Given the description of an element on the screen output the (x, y) to click on. 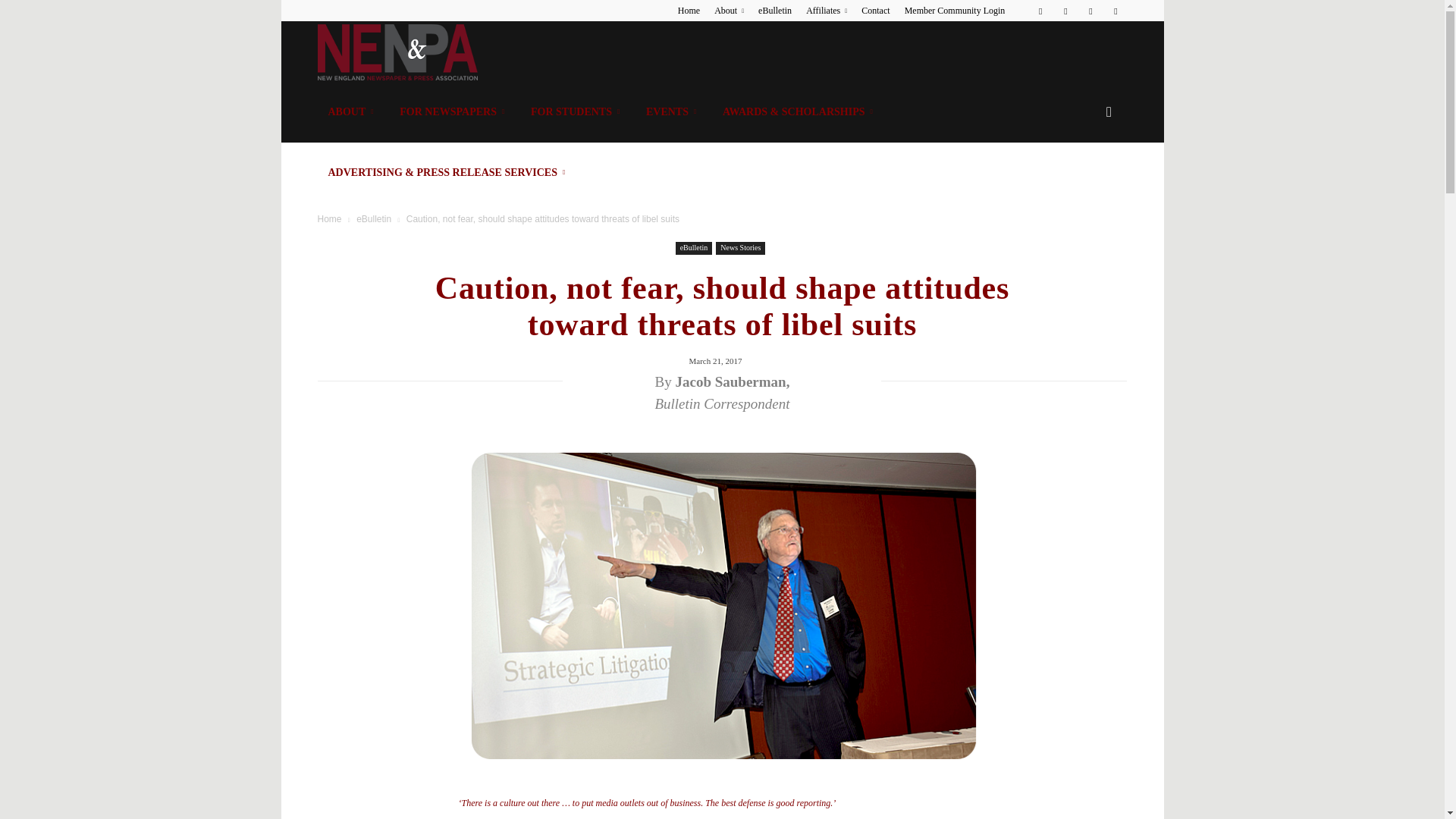
Twitter (1114, 10)
Mail (1090, 10)
View all posts in eBulletin (373, 218)
Facebook (1040, 10)
Linkedin (1065, 10)
